Given the description of an element on the screen output the (x, y) to click on. 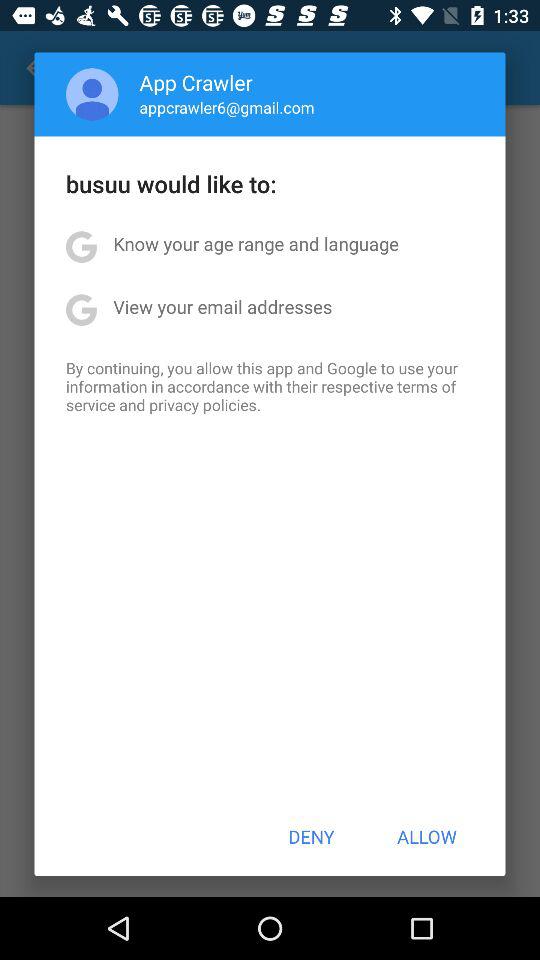
choose appcrawler6@gmail.com (226, 107)
